Given the description of an element on the screen output the (x, y) to click on. 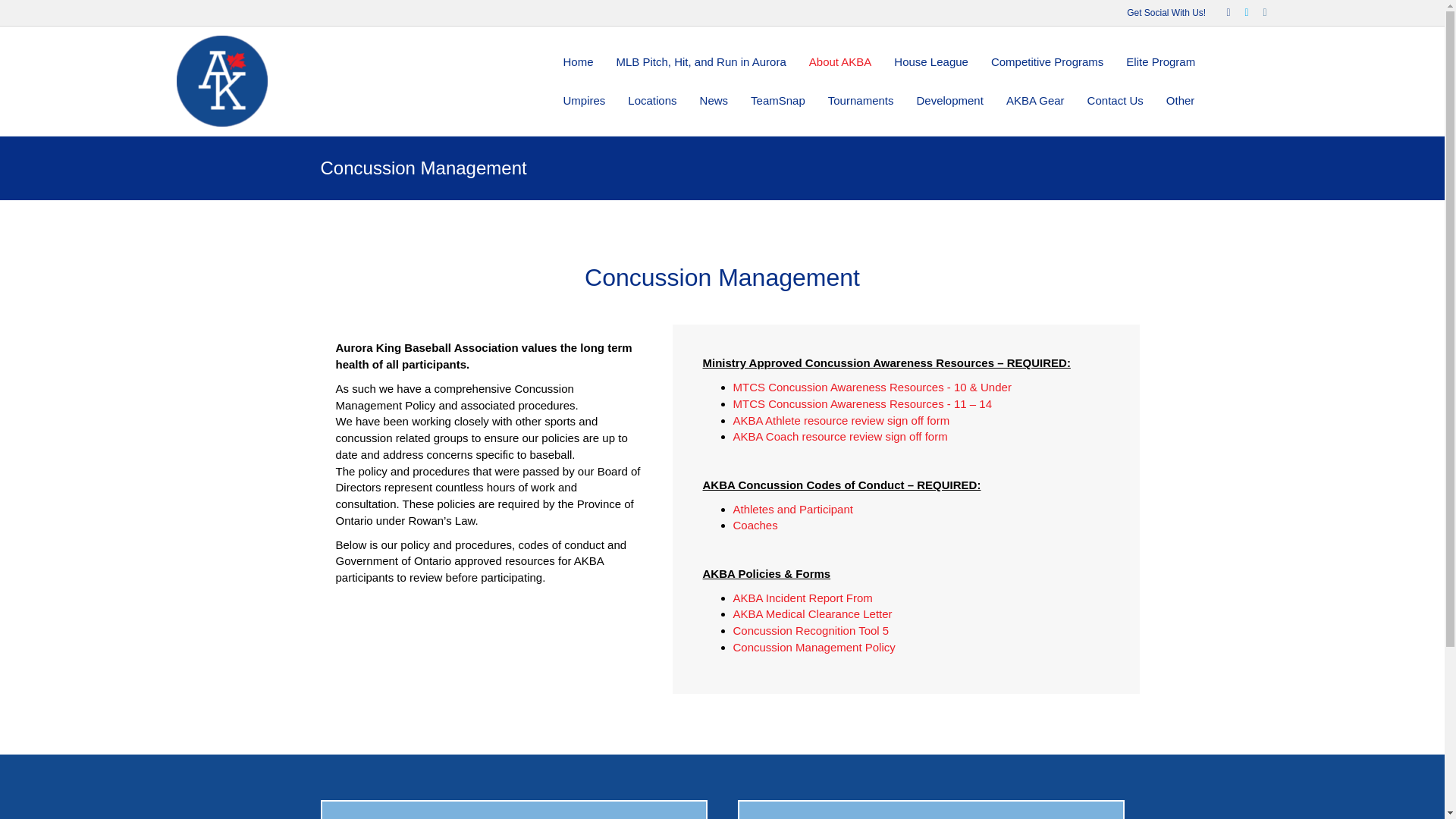
Home (577, 61)
Instagram (1256, 11)
About AKBA (840, 61)
MLB Pitch, Hit, and Run in Aurora (701, 61)
Facebook (1220, 11)
Twitter (1238, 11)
